Given the description of an element on the screen output the (x, y) to click on. 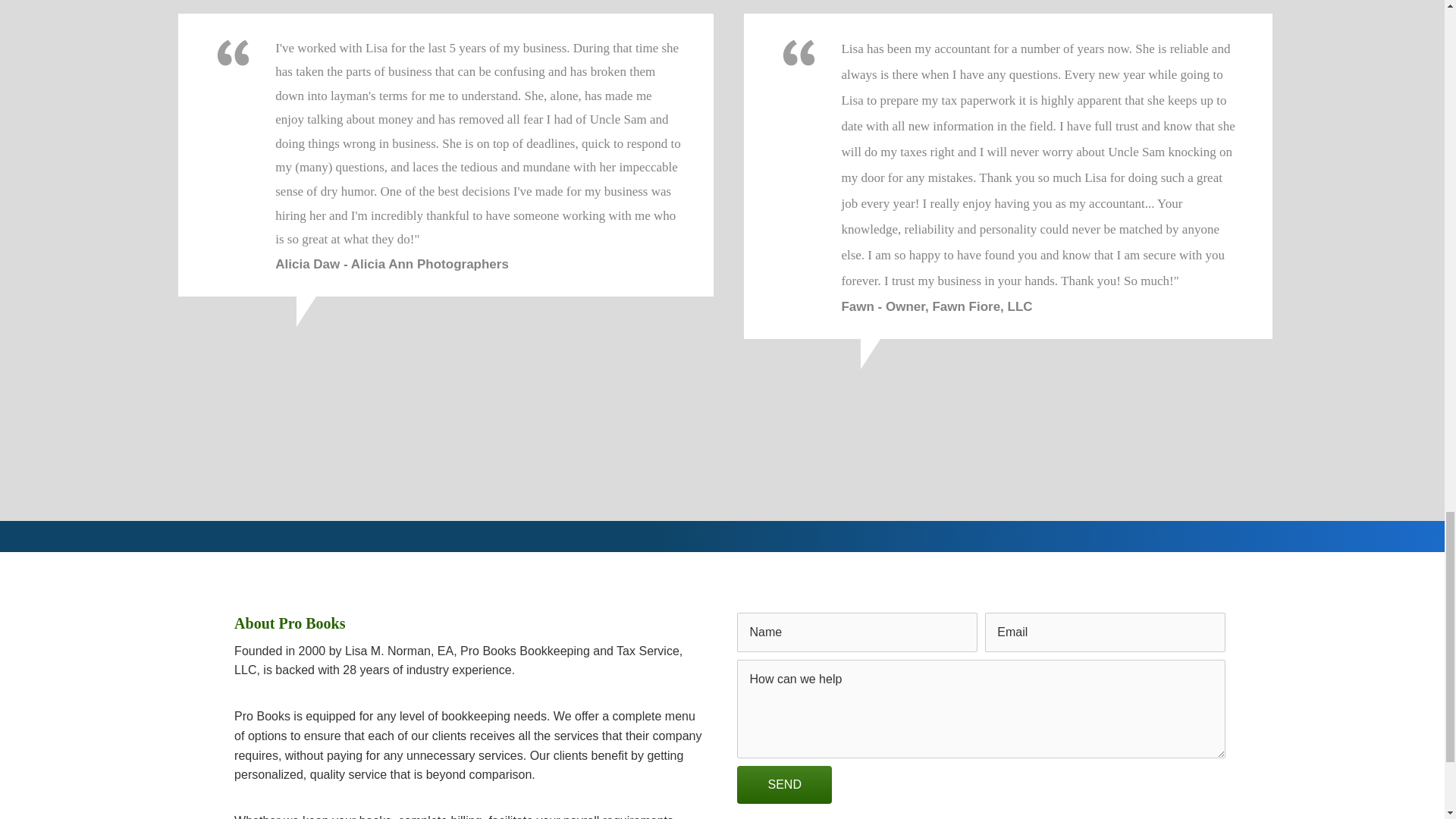
SEND (783, 784)
